Given the description of an element on the screen output the (x, y) to click on. 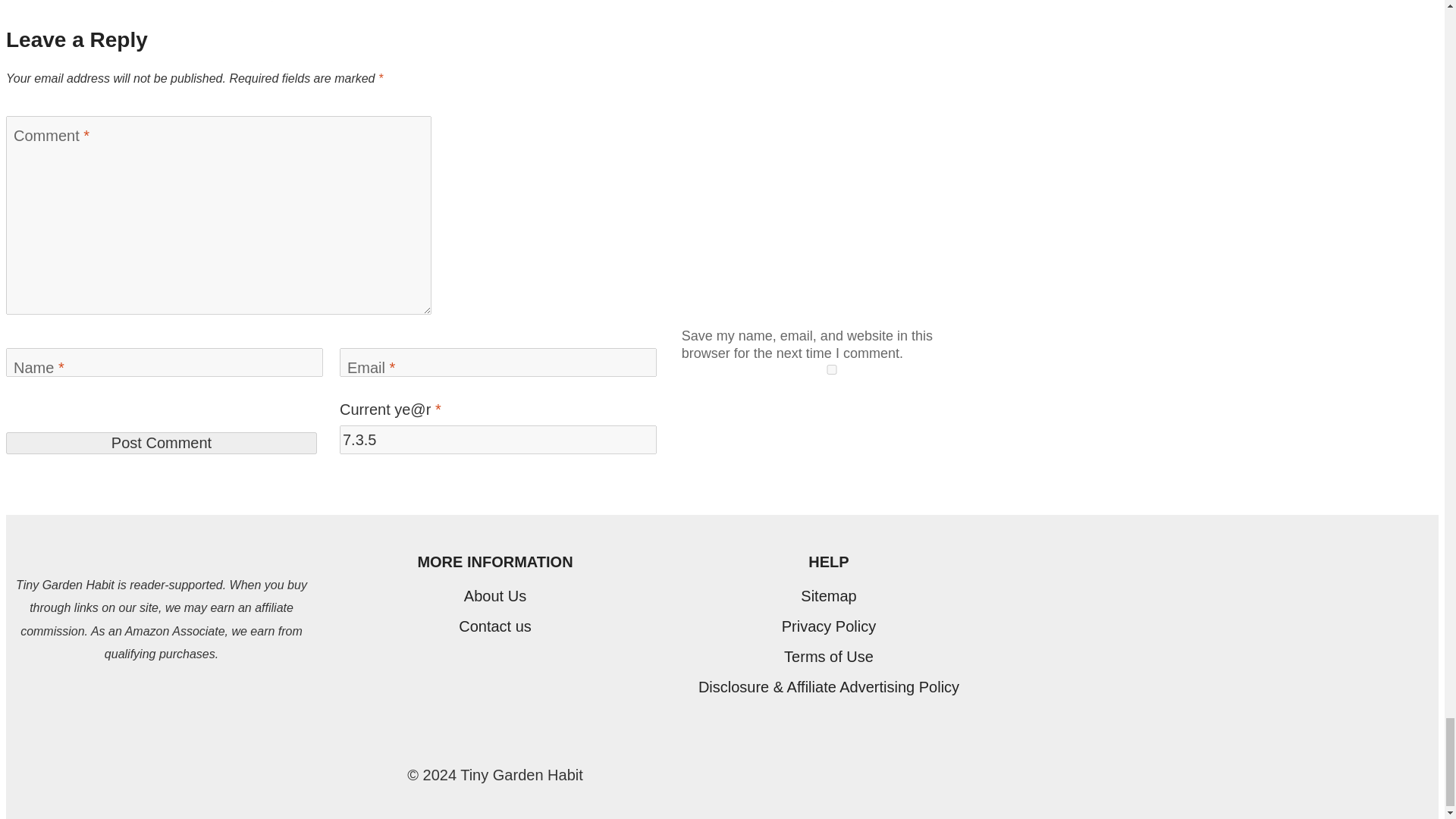
yes (832, 369)
7.3.5 (497, 439)
Post Comment (161, 443)
